Given the description of an element on the screen output the (x, y) to click on. 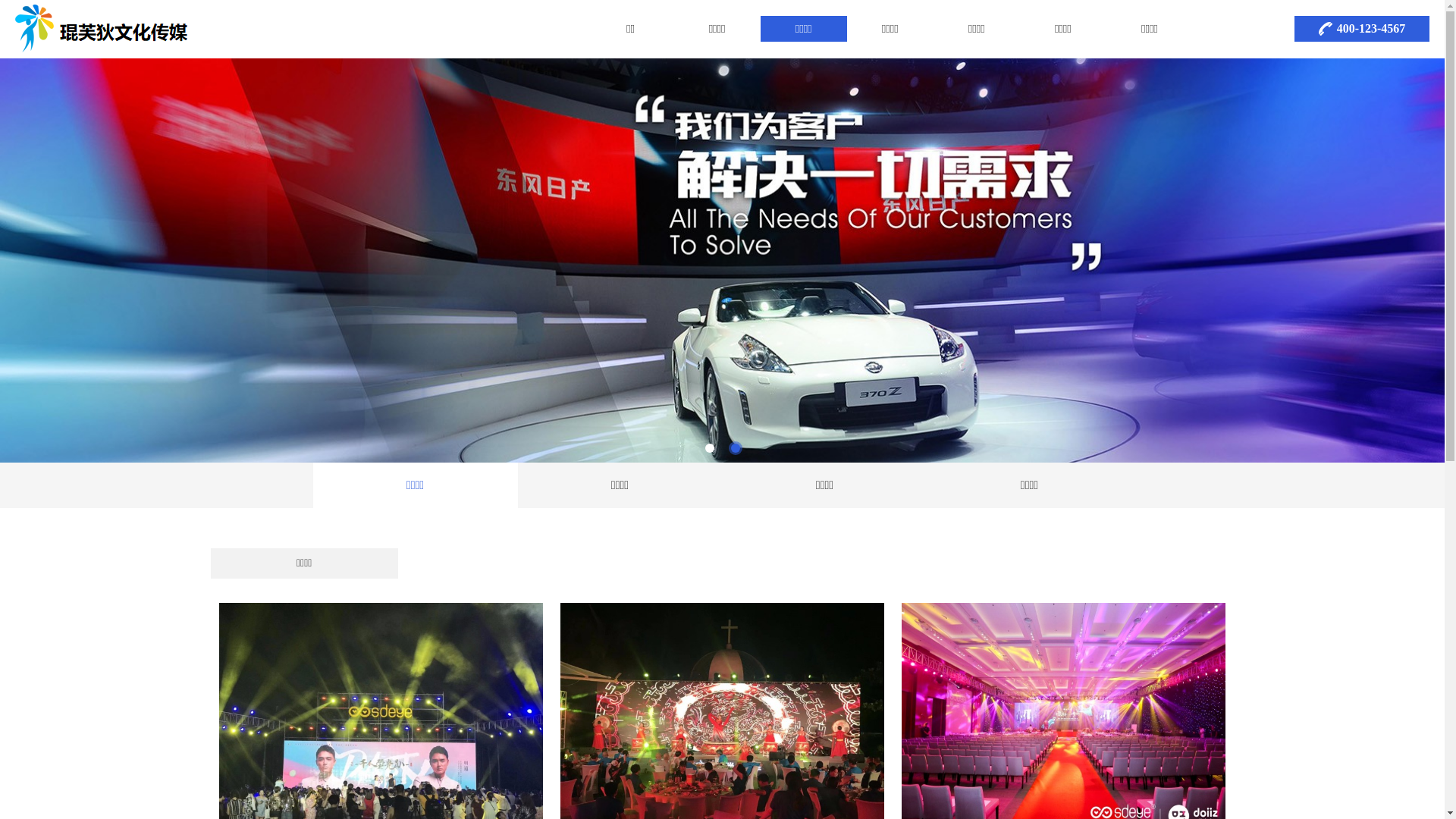
2 Element type: text (735, 447)
1 Element type: text (709, 447)
